Given the description of an element on the screen output the (x, y) to click on. 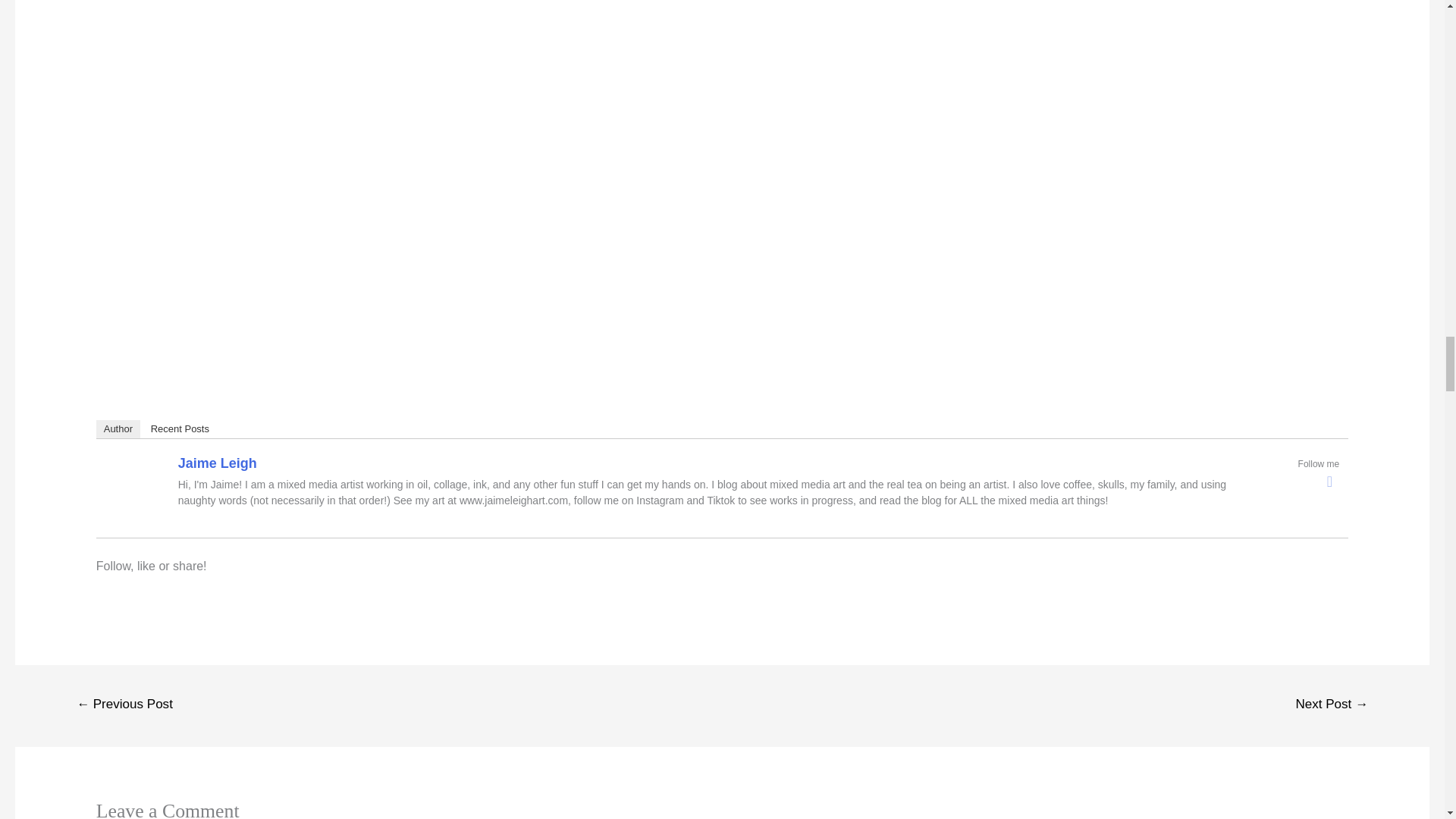
Recent Posts (179, 429)
Facebook (1329, 481)
Jaime Leigh (134, 490)
Jaime Leigh (217, 462)
Author (117, 429)
